Given the description of an element on the screen output the (x, y) to click on. 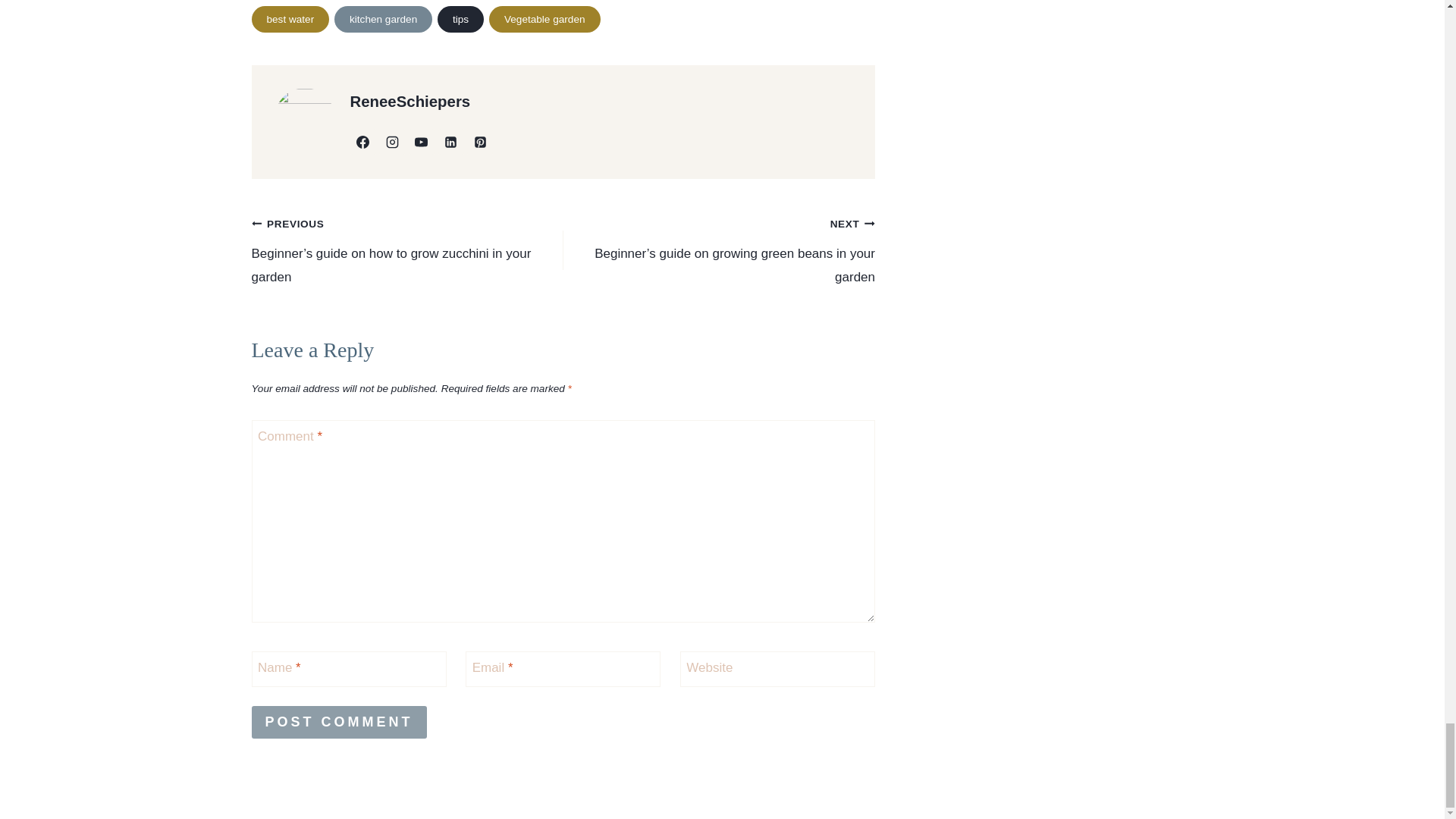
kitchen garden (383, 18)
tips (460, 18)
best water (290, 18)
Vegetable garden (544, 18)
Post Comment (338, 721)
